Given the description of an element on the screen output the (x, y) to click on. 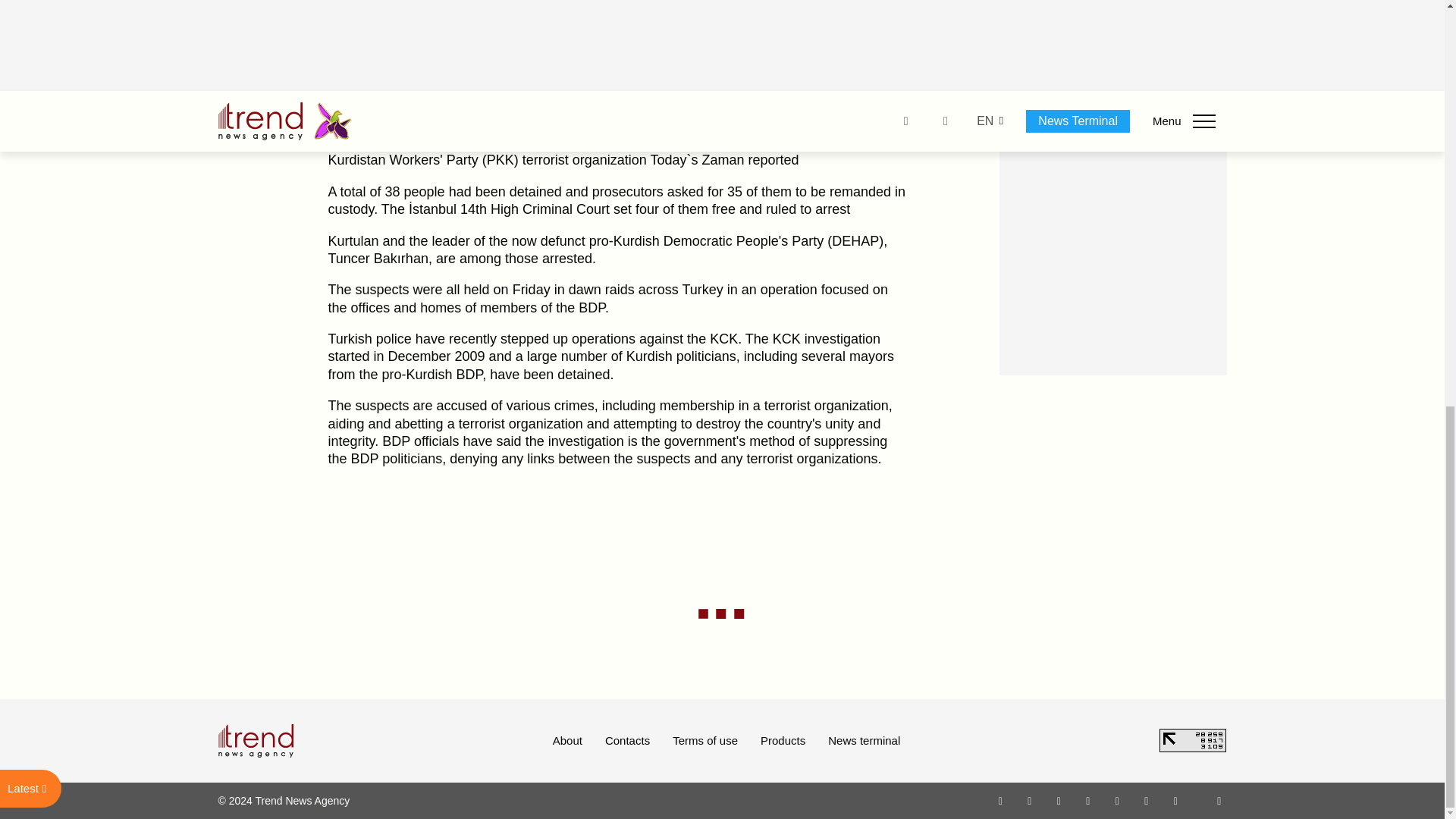
RSS Feed (1219, 800)
Twitter (1059, 800)
Facebook (1029, 800)
Youtube (1088, 800)
Telegram (1117, 800)
Whatsapp (1000, 800)
Android App (1176, 800)
LinkedIn (1146, 800)
